Given the description of an element on the screen output the (x, y) to click on. 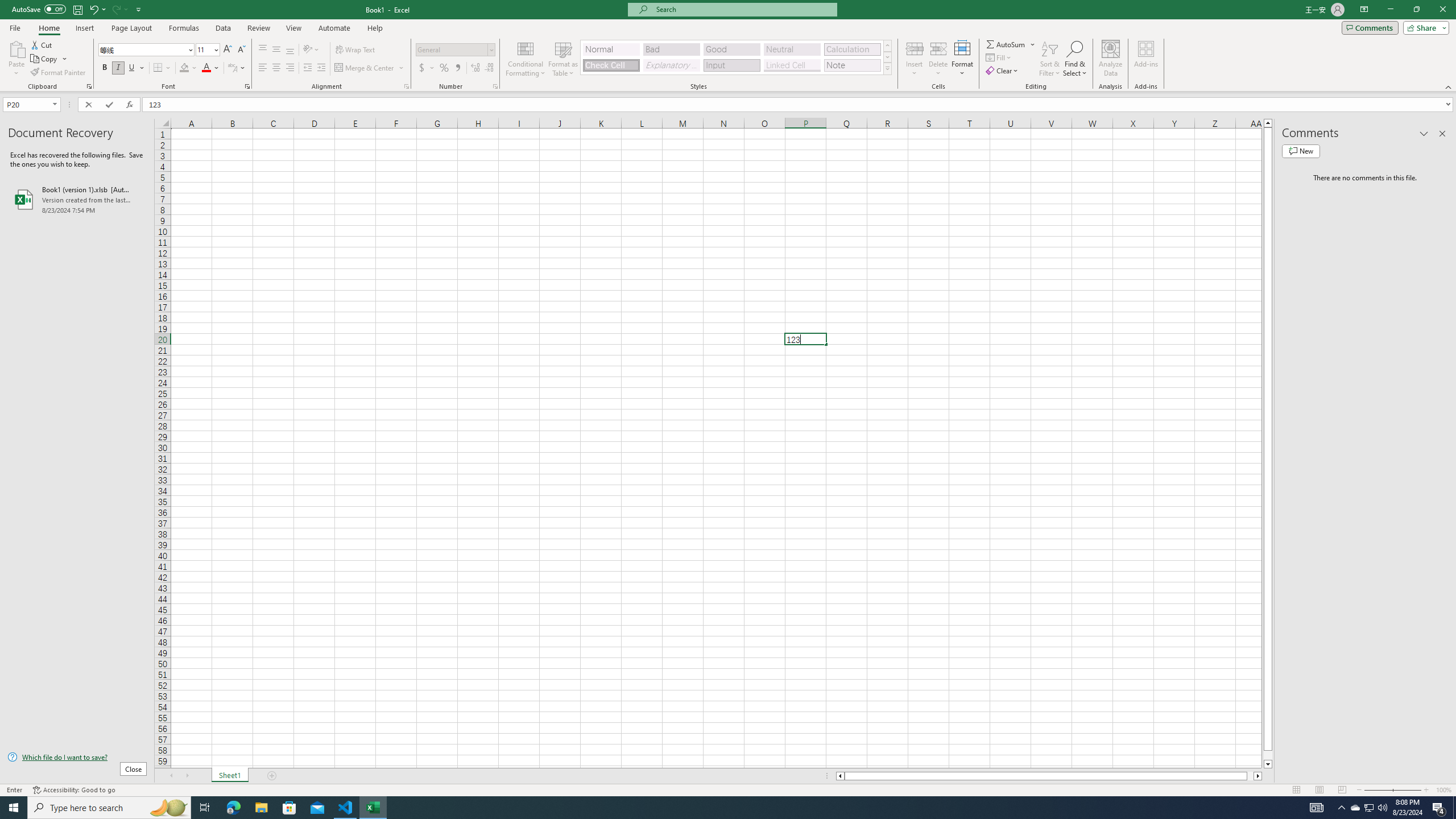
Insert Cells (914, 48)
Increase Decimal (474, 67)
Neutral (791, 49)
Input (731, 65)
Accounting Number Format (422, 67)
Zoom Out (1377, 790)
Borders (162, 67)
Good (731, 49)
Insert (83, 28)
Align Right (290, 67)
Font (142, 49)
Comments (1369, 27)
